Given the description of an element on the screen output the (x, y) to click on. 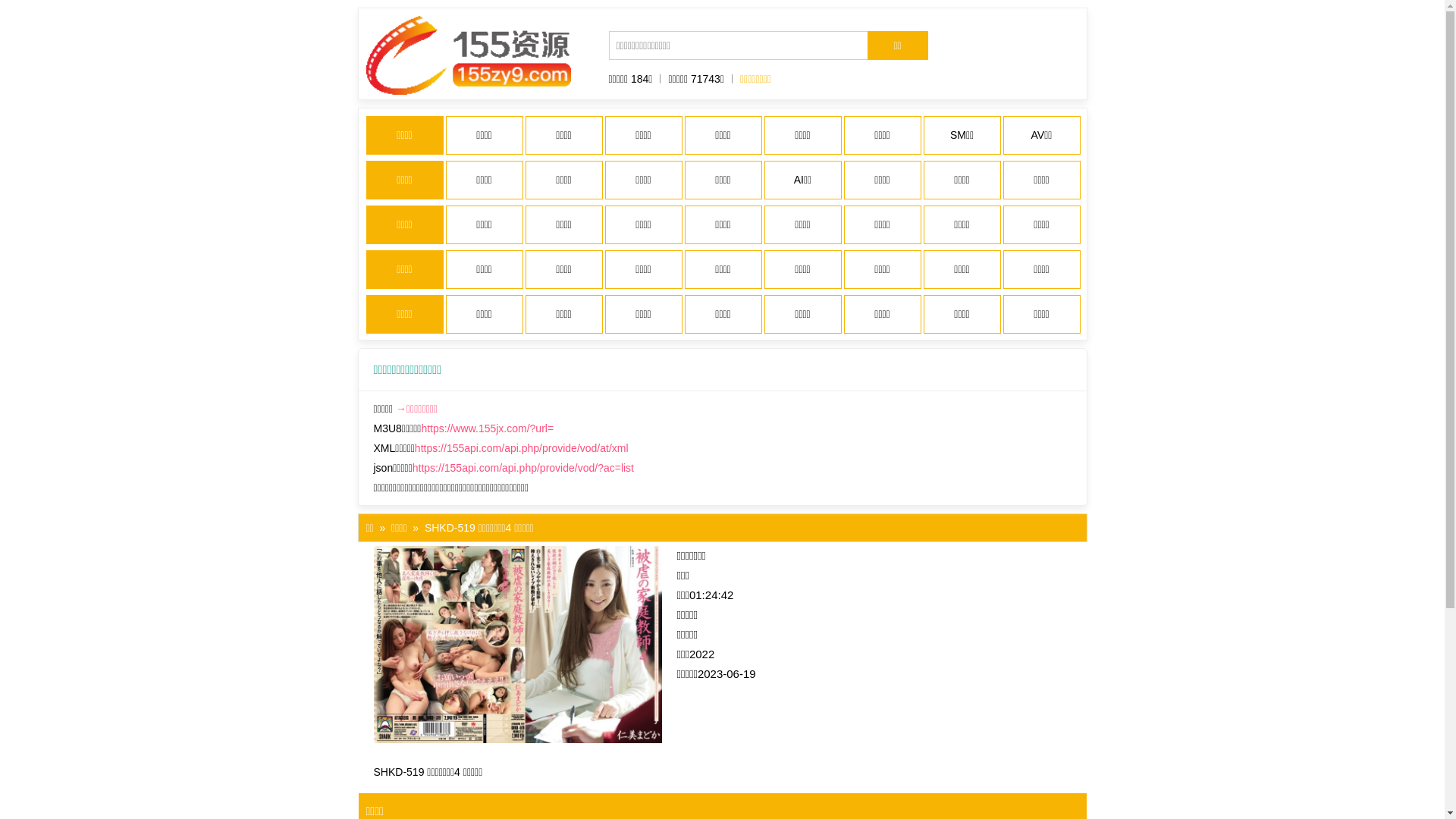
https://155api.com/api.php/provide/vod/?ac=list Element type: text (522, 467)
https://155api.com/api.php/provide/vod/at/xml Element type: text (521, 448)
https://www.155jx.com/?url= Element type: text (486, 428)
